Given the description of an element on the screen output the (x, y) to click on. 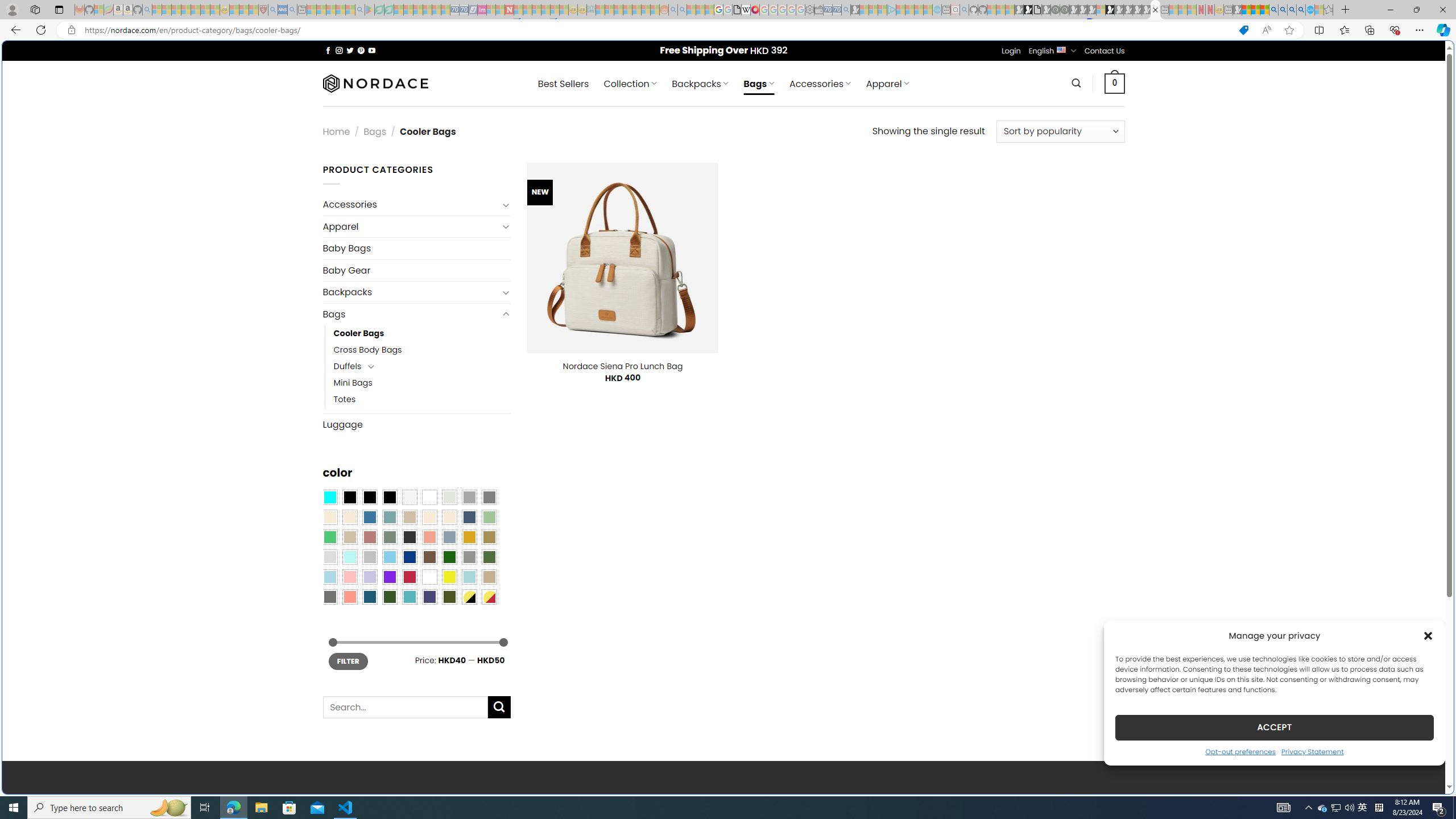
Luggage (416, 423)
Sky Blue (389, 557)
Red (408, 577)
Login (1010, 50)
